Given the description of an element on the screen output the (x, y) to click on. 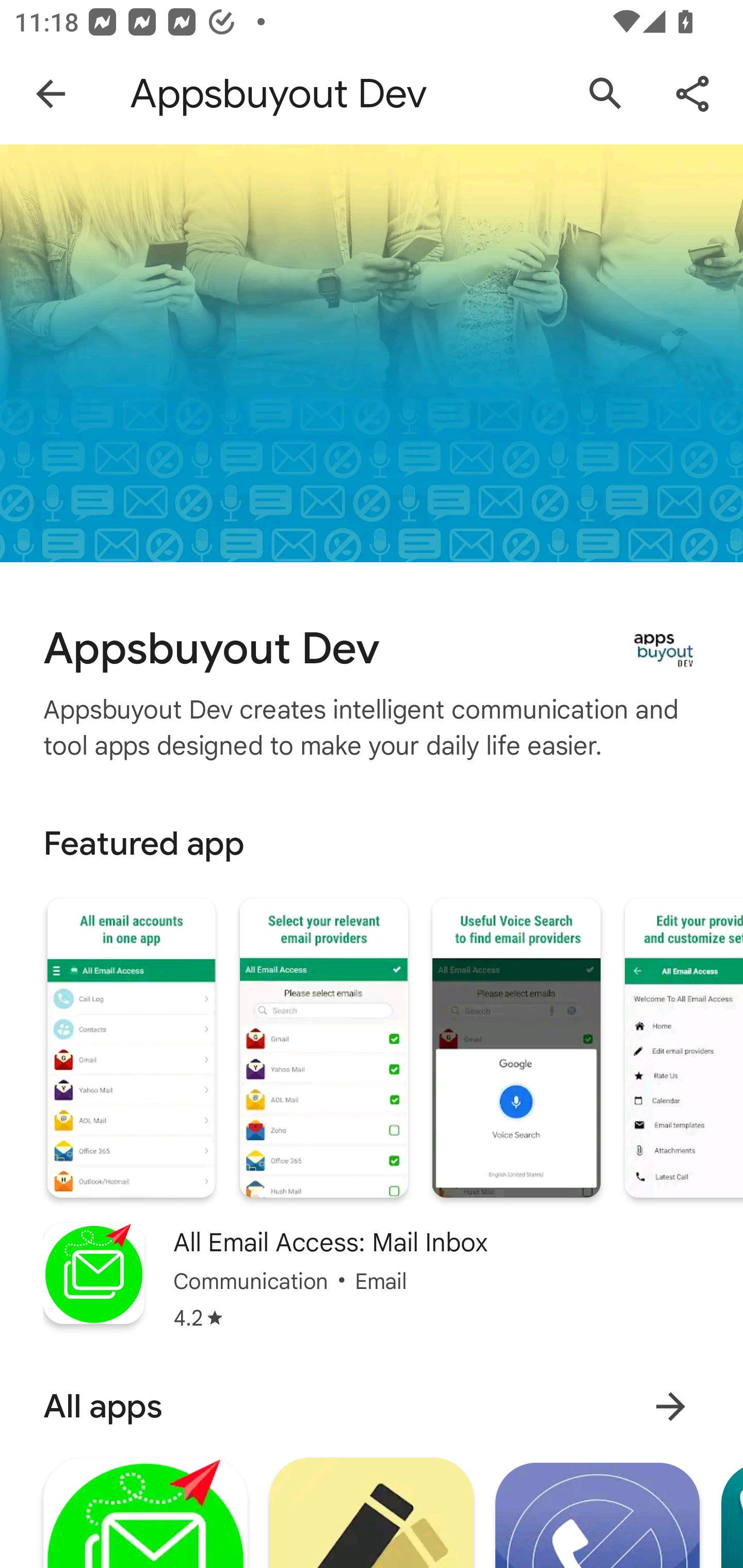
Navigate up (50, 93)
Search Google Play (605, 93)
Share (692, 93)
Screenshot "1" of "7" (130, 1047)
Screenshot "2" of "7" (323, 1047)
Screenshot "3" of "7" (515, 1047)
Screenshot "4" of "7" (683, 1047)
All apps More results for All apps (371, 1406)
More results for All apps (670, 1406)
